Given the description of an element on the screen output the (x, y) to click on. 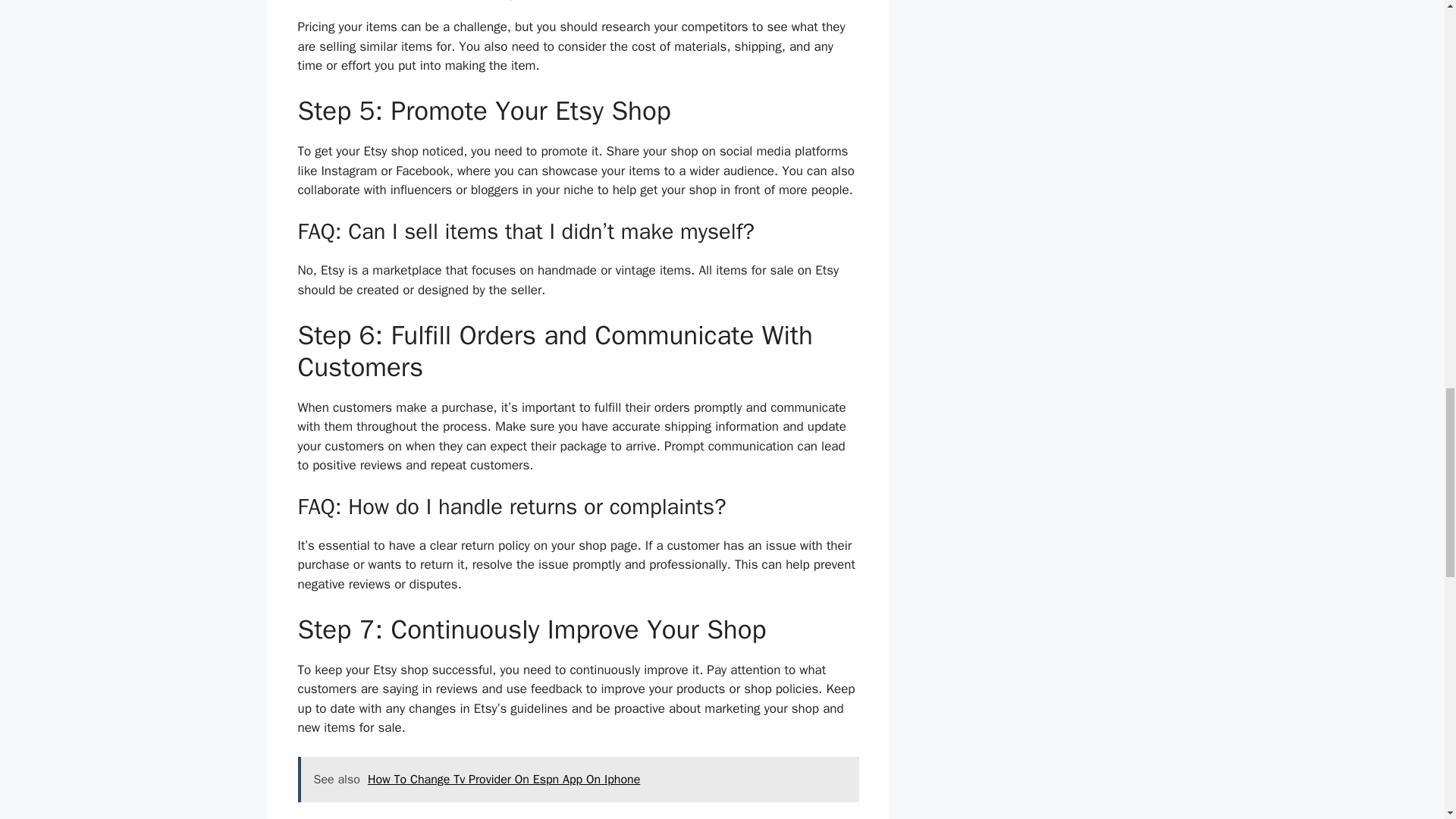
See also  How To Change Tv Provider On Espn App On Iphone (578, 779)
